Given the description of an element on the screen output the (x, y) to click on. 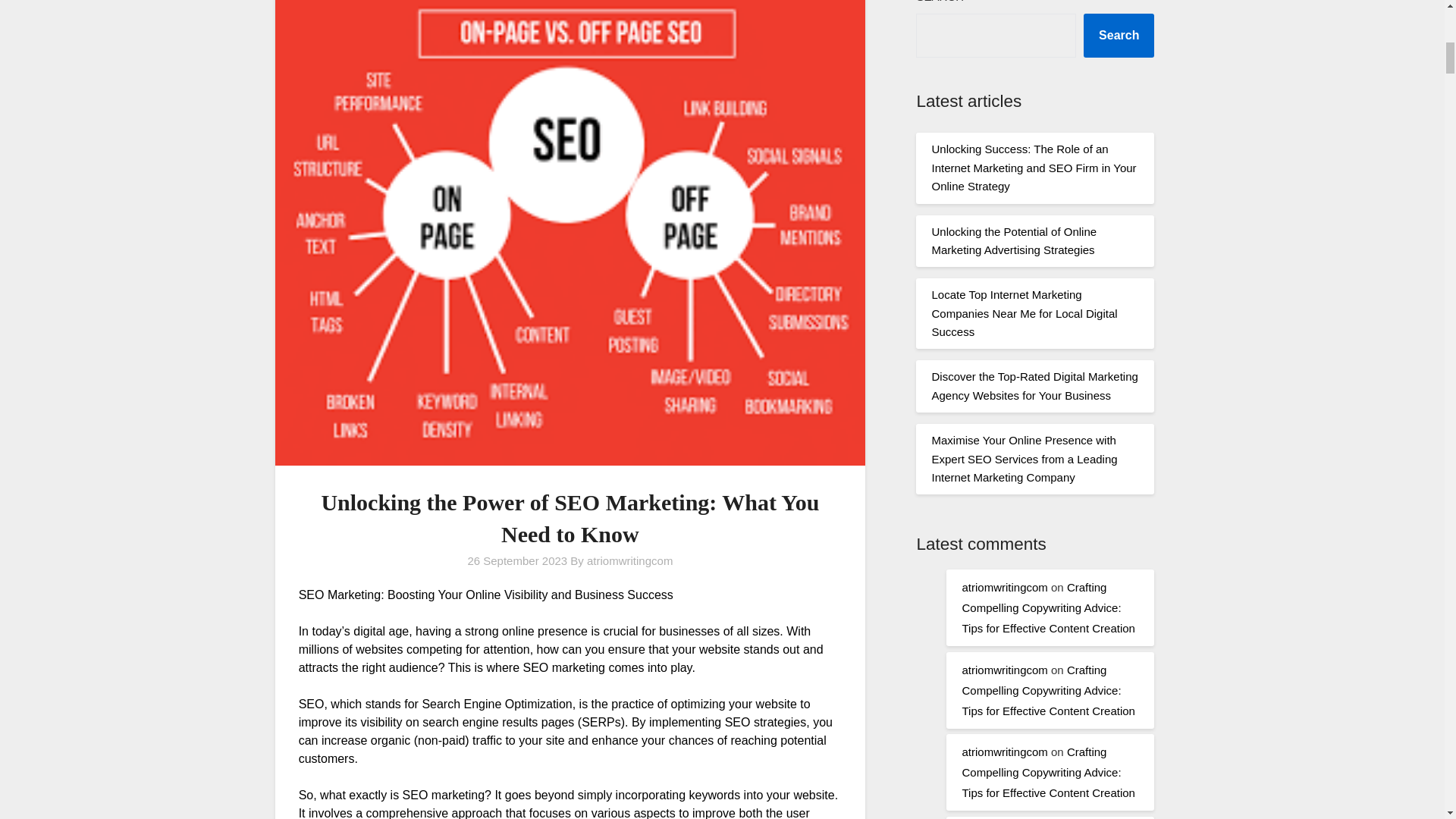
atriomwritingcom (1003, 586)
atriomwritingcom (1003, 669)
Search (1118, 35)
atriomwritingcom (1003, 751)
26 September 2023 (517, 560)
